Given the description of an element on the screen output the (x, y) to click on. 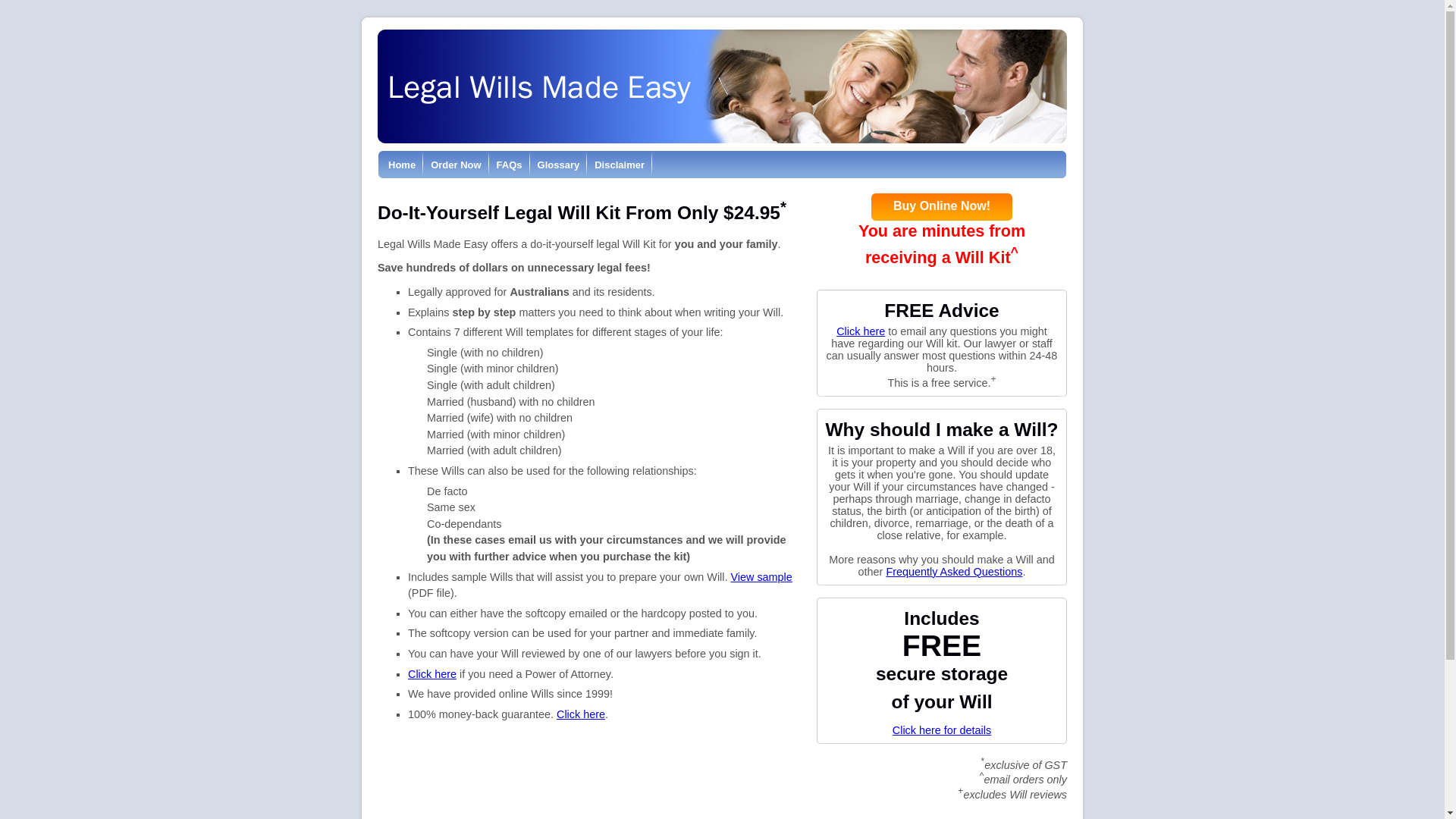
View sample Element type: text (760, 577)
Home Element type: text (401, 164)
Order Now Element type: text (455, 164)
FAQs Element type: text (509, 164)
Legal Wills Made Easy: Home Element type: hover (721, 139)
Click here Element type: text (580, 714)
Frequently Asked Questions Element type: text (953, 571)
Disclaimer Element type: text (619, 164)
Click here Element type: text (431, 674)
Buy Online Now! Element type: text (941, 206)
Glossary Element type: text (558, 164)
Legal Wills Made Easy: Home Element type: hover (721, 86)
Click here for details Element type: text (941, 729)
Click here Element type: text (860, 331)
